Given the description of an element on the screen output the (x, y) to click on. 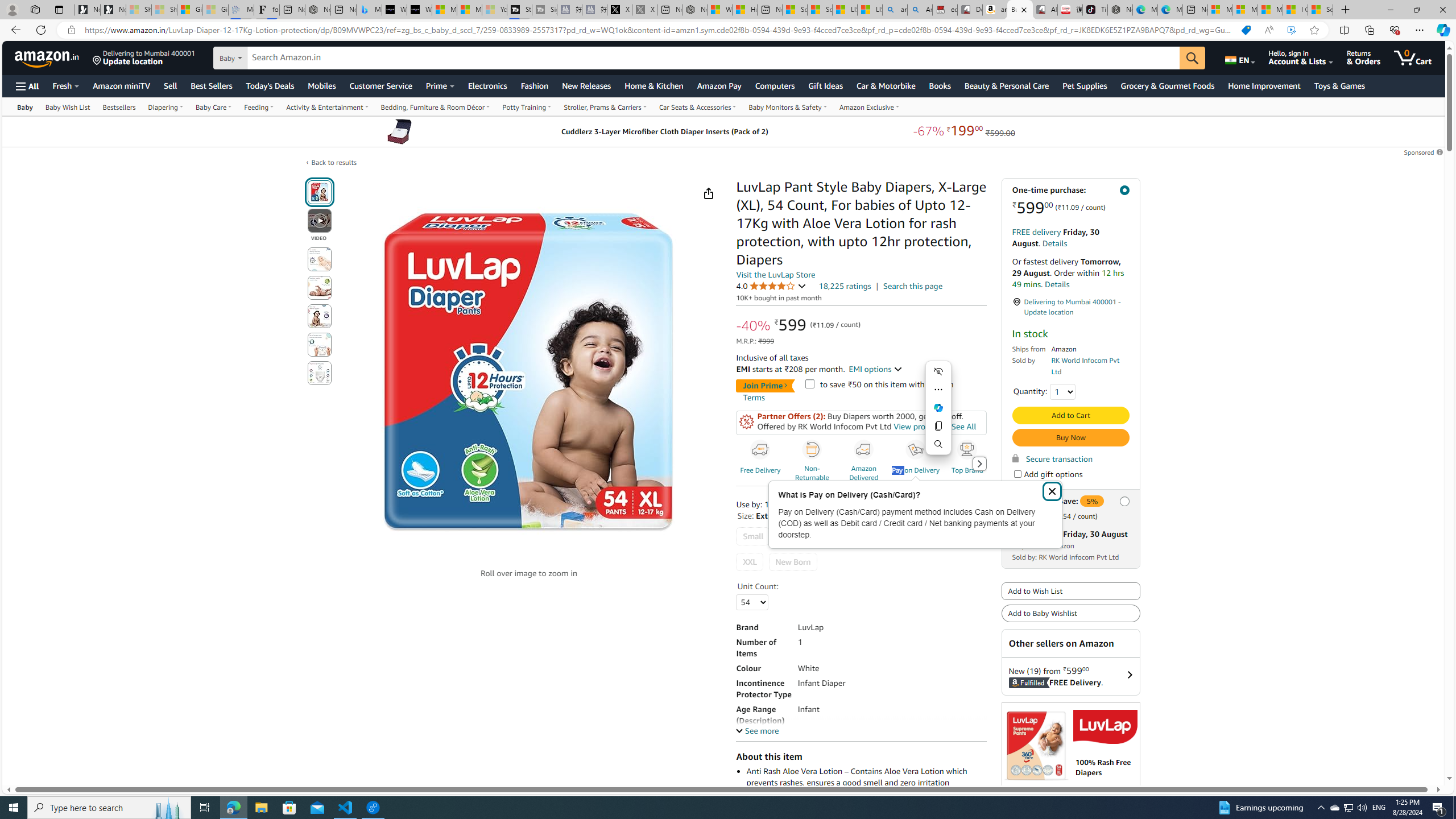
Nordace - #1 Japanese Best-Seller - Siena Smart Backpack (316, 9)
Copy (938, 425)
amazon - Search (894, 9)
